Given the description of an element on the screen output the (x, y) to click on. 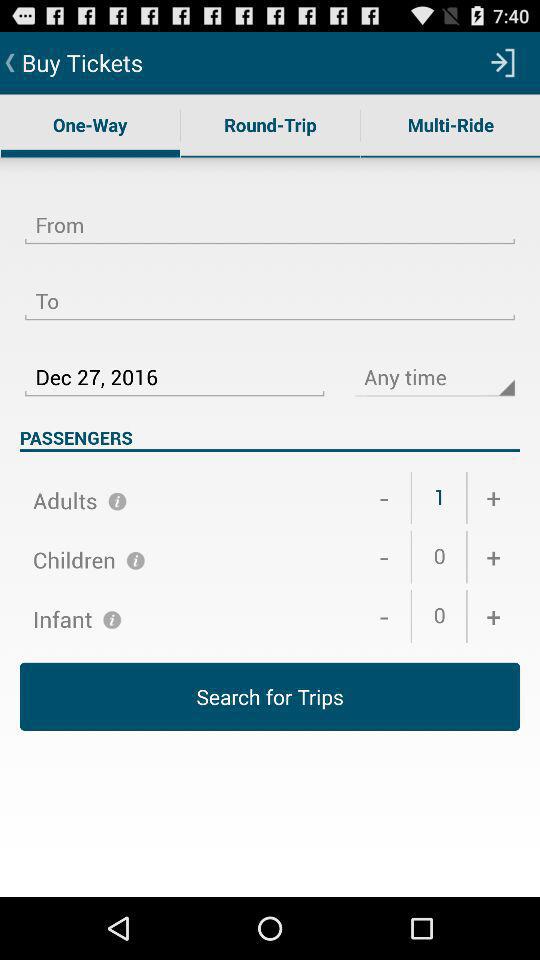
from address (269, 213)
